Given the description of an element on the screen output the (x, y) to click on. 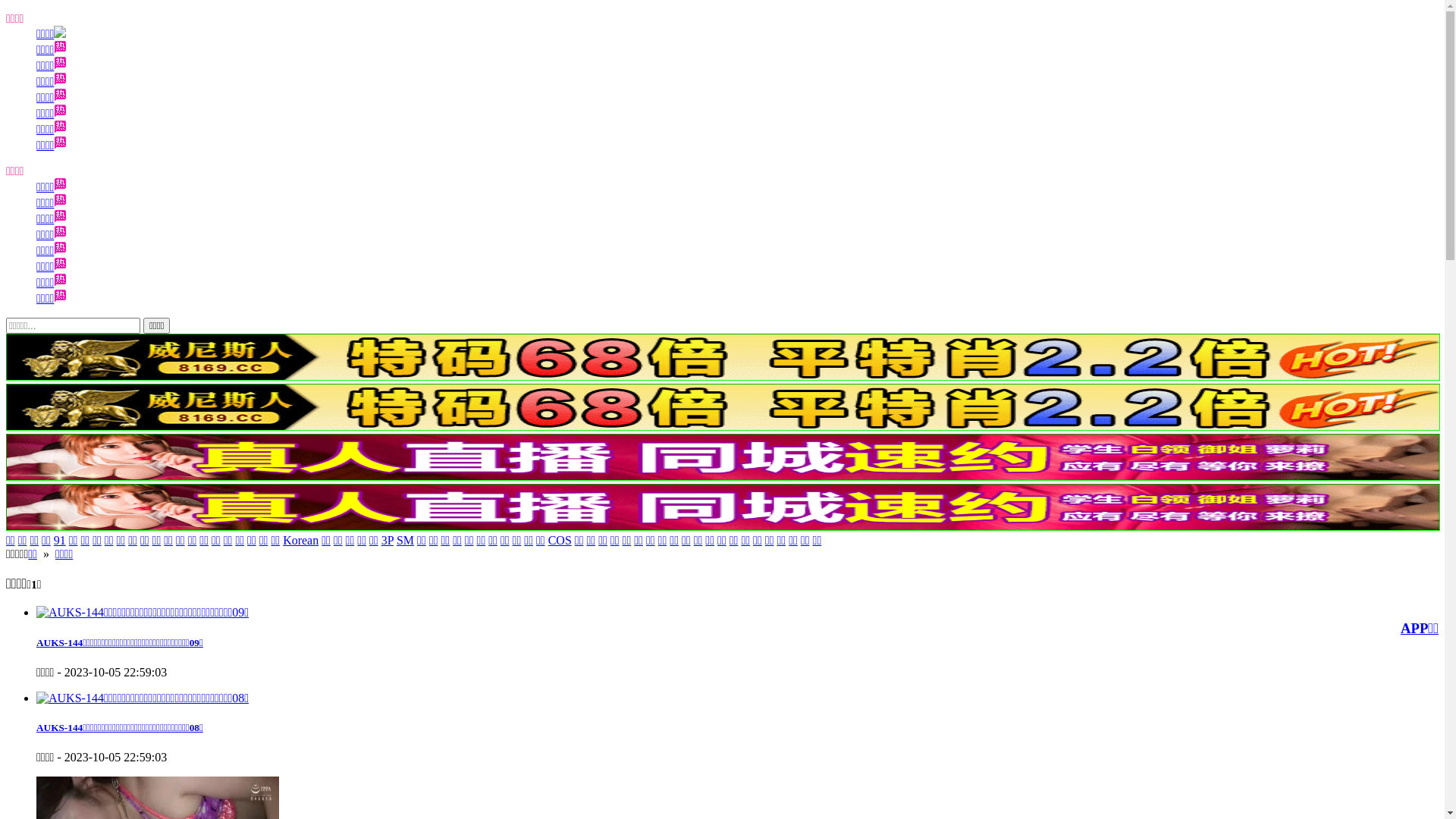
Korean Element type: text (300, 539)
91 Element type: text (59, 539)
3P Element type: text (387, 539)
SM Element type: text (405, 539)
COS Element type: text (559, 539)
